Given the description of an element on the screen output the (x, y) to click on. 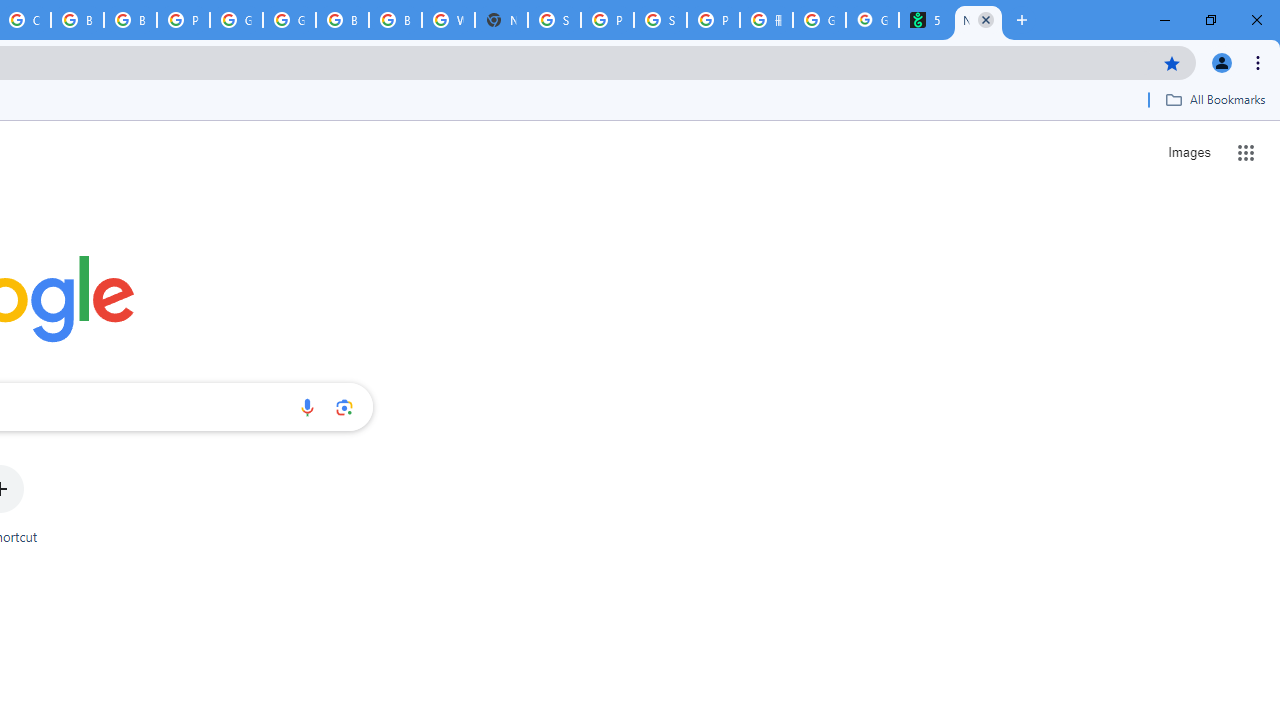
Search for Images  (1188, 152)
New Tab (501, 20)
Google Cloud Platform (289, 20)
Search by image (344, 407)
Search by voice (307, 407)
New Tab (978, 20)
Browse Chrome as a guest - Computer - Google Chrome Help (342, 20)
Browse Chrome as a guest - Computer - Google Chrome Help (77, 20)
Google Cloud Platform (235, 20)
